Given the description of an element on the screen output the (x, y) to click on. 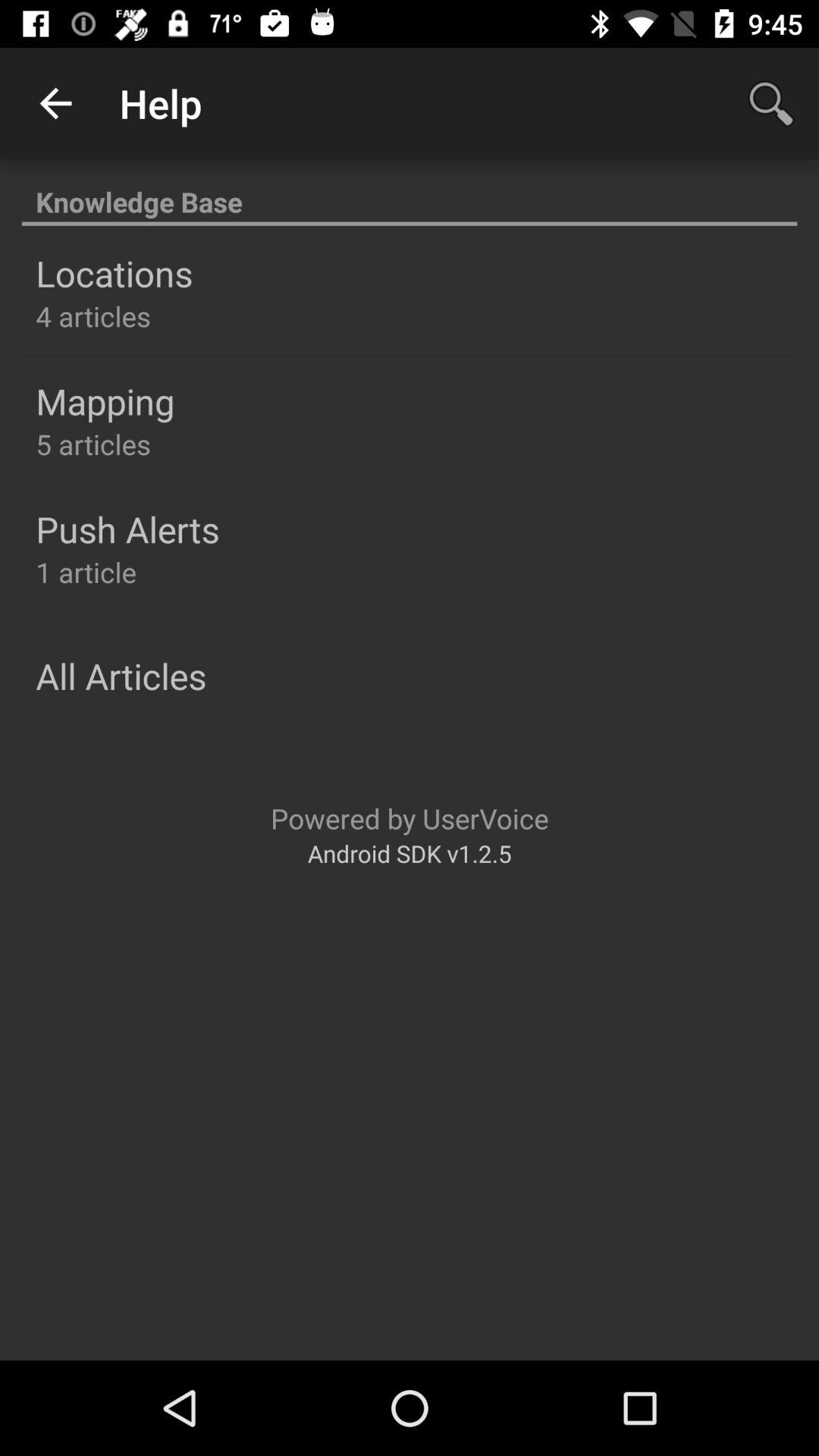
tap push alerts icon (127, 529)
